Given the description of an element on the screen output the (x, y) to click on. 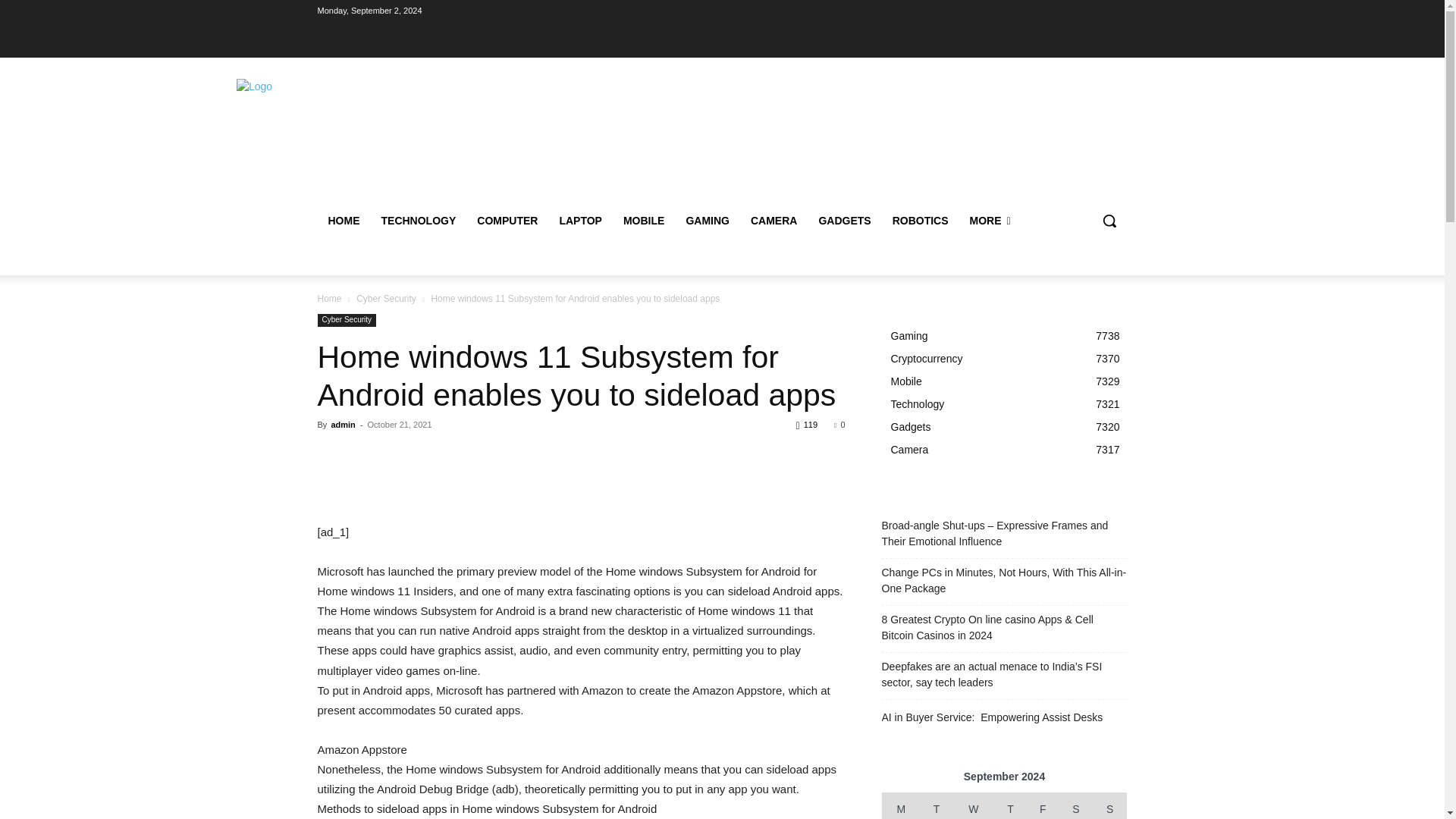
HOME (343, 220)
ROBOTICS (920, 220)
Home (328, 298)
GADGETS (844, 220)
LAPTOP (580, 220)
COMPUTER (506, 220)
MORE (990, 220)
View all posts in Cyber Security (386, 298)
CAMERA (773, 220)
MOBILE (643, 220)
